Given the description of an element on the screen output the (x, y) to click on. 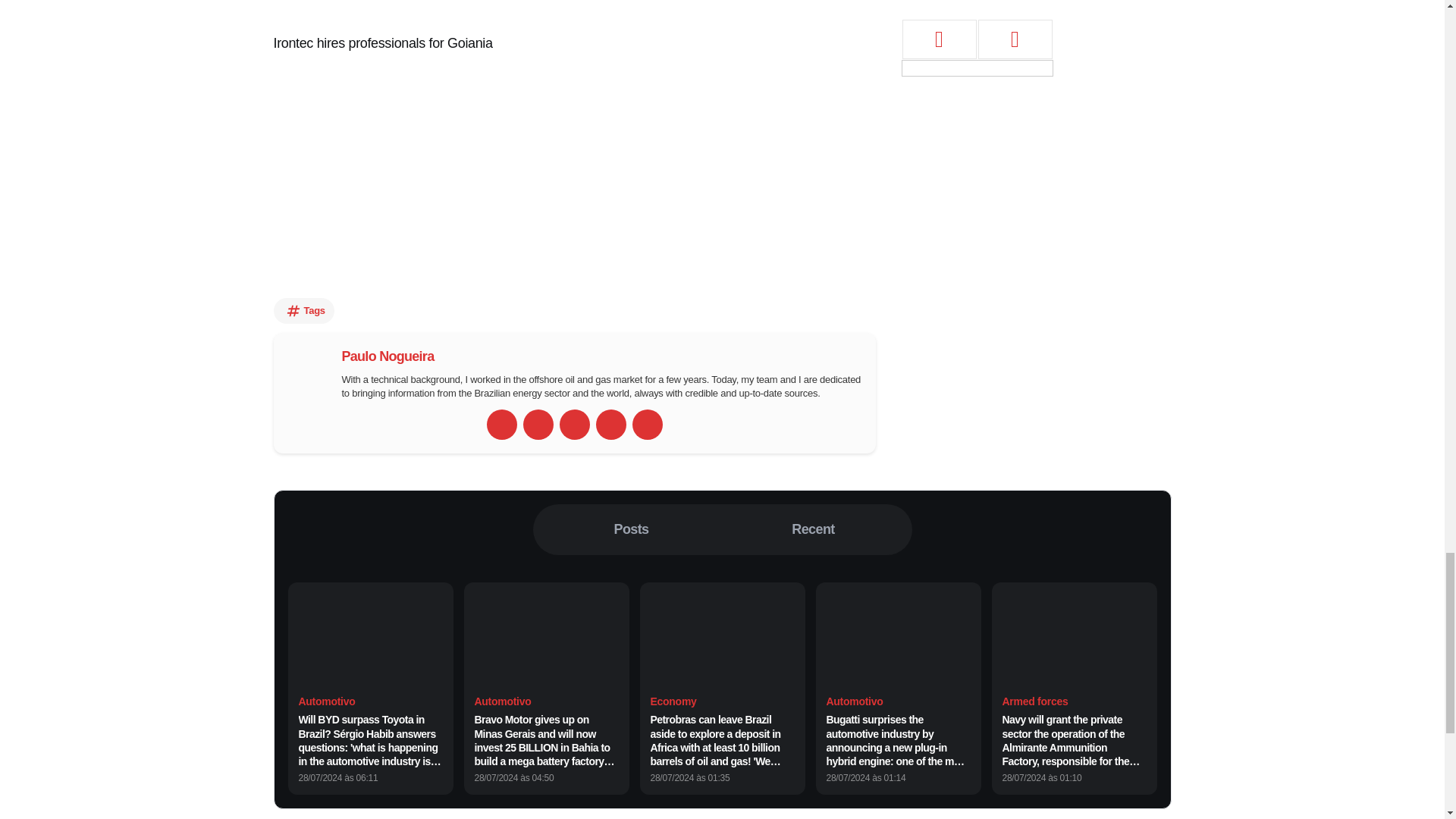
linkedin (610, 424)
Instagram (646, 424)
Facebook (537, 424)
url (501, 424)
Twitter (574, 424)
